Given the description of an element on the screen output the (x, y) to click on. 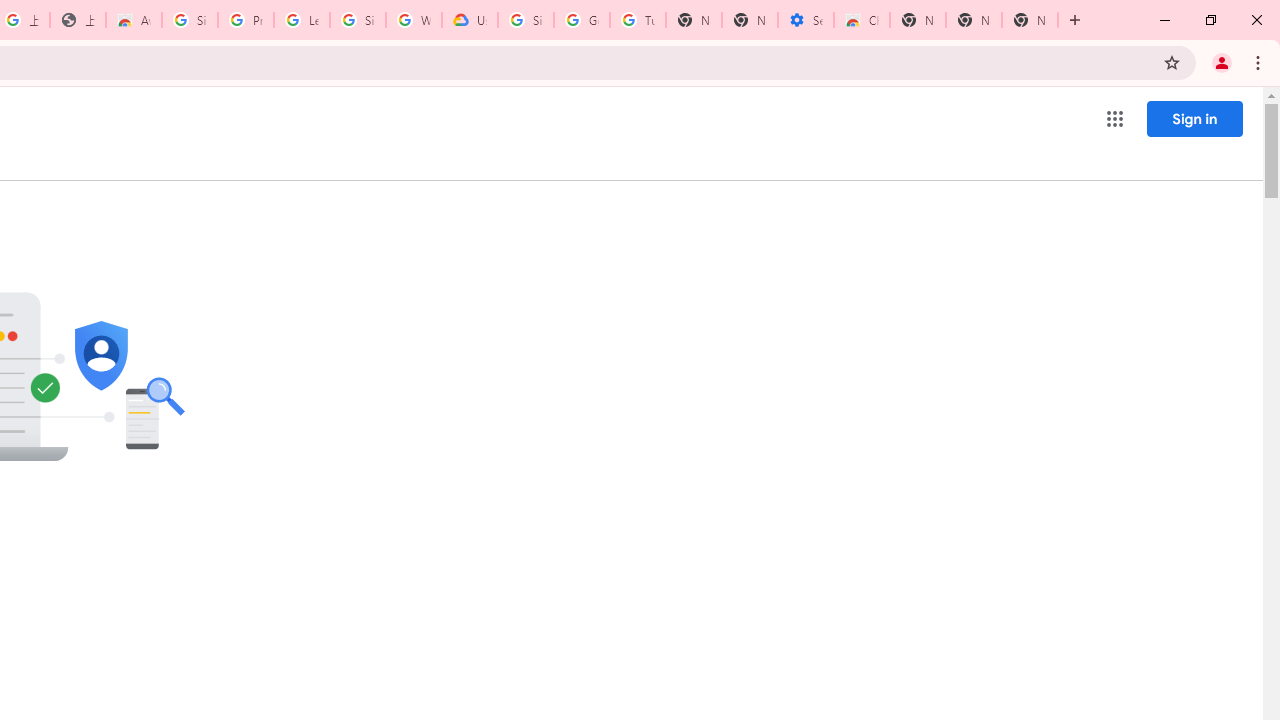
Sign in - Google Accounts (358, 20)
New Tab (917, 20)
Turn cookies on or off - Computer - Google Account Help (637, 20)
New Tab (1030, 20)
